Given the description of an element on the screen output the (x, y) to click on. 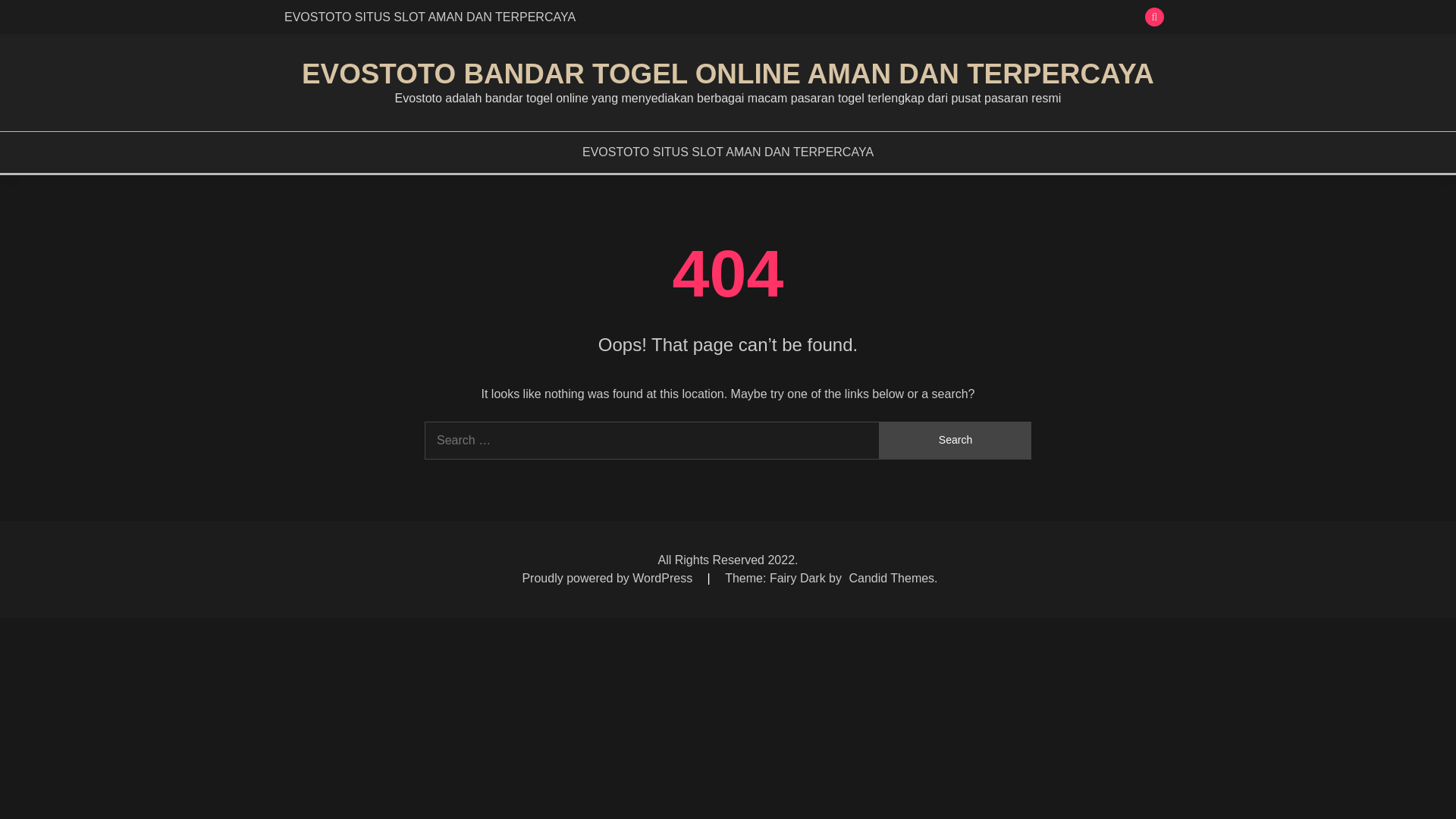
Candid Themes (891, 577)
Proudly powered by WordPress (608, 577)
EVOSTOTO SITUS SLOT AMAN DAN TERPERCAYA (429, 16)
Search (954, 440)
Search (839, 18)
Search (954, 440)
Search (954, 440)
EVOSTOTO BANDAR TOGEL ONLINE AMAN DAN TERPERCAYA (727, 73)
EVOSTOTO SITUS SLOT AMAN DAN TERPERCAYA (727, 152)
